Given the description of an element on the screen output the (x, y) to click on. 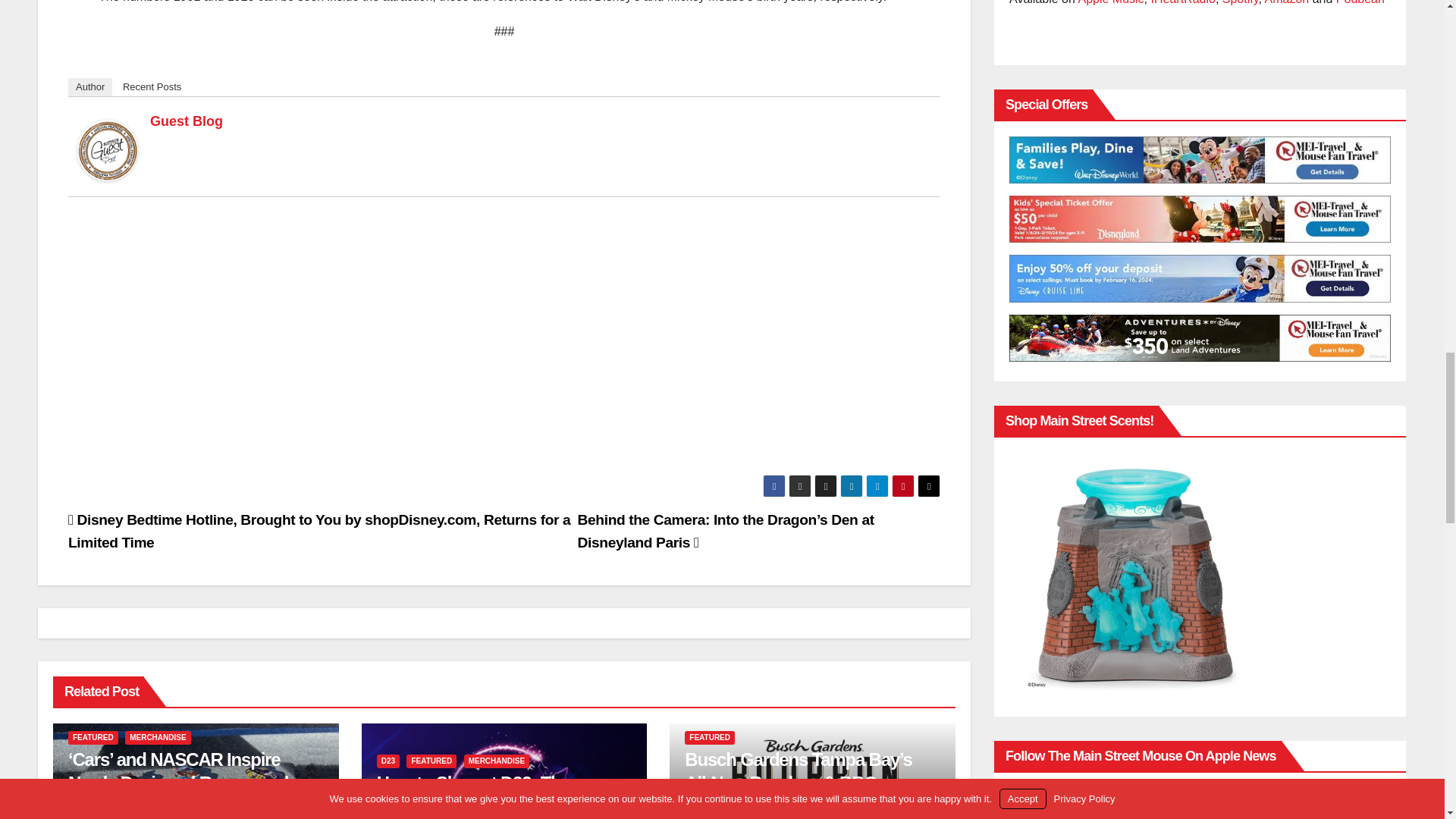
Recent Posts (152, 86)
Author (90, 86)
